Given the description of an element on the screen output the (x, y) to click on. 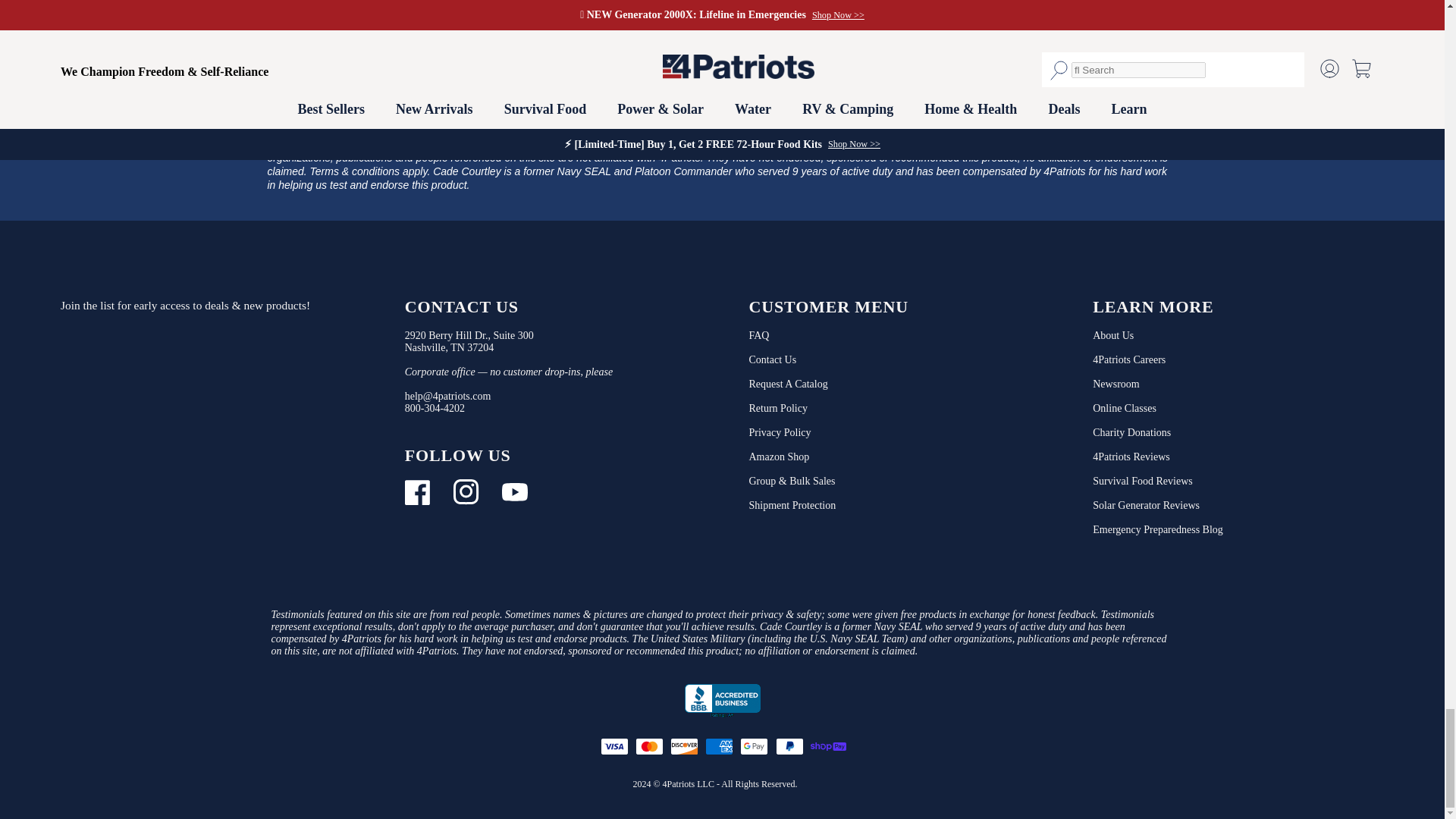
4Patriots customer support (434, 408)
Shop Pay (826, 746)
4Patriots, LLC., Online Retailer, Nashville, TN (722, 700)
